Given the description of an element on the screen output the (x, y) to click on. 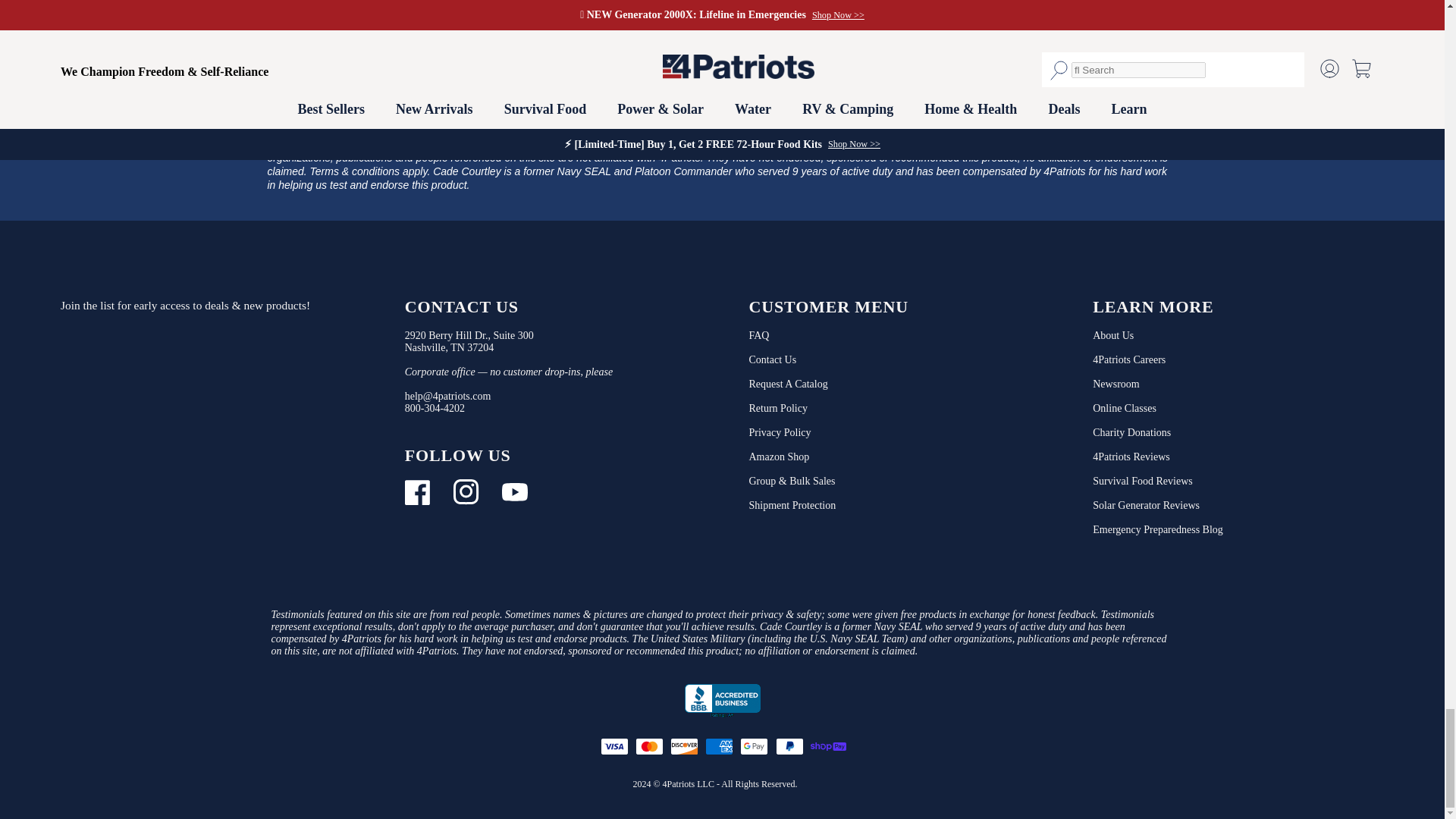
4Patriots customer support (434, 408)
Shop Pay (826, 746)
4Patriots, LLC., Online Retailer, Nashville, TN (722, 700)
